Given the description of an element on the screen output the (x, y) to click on. 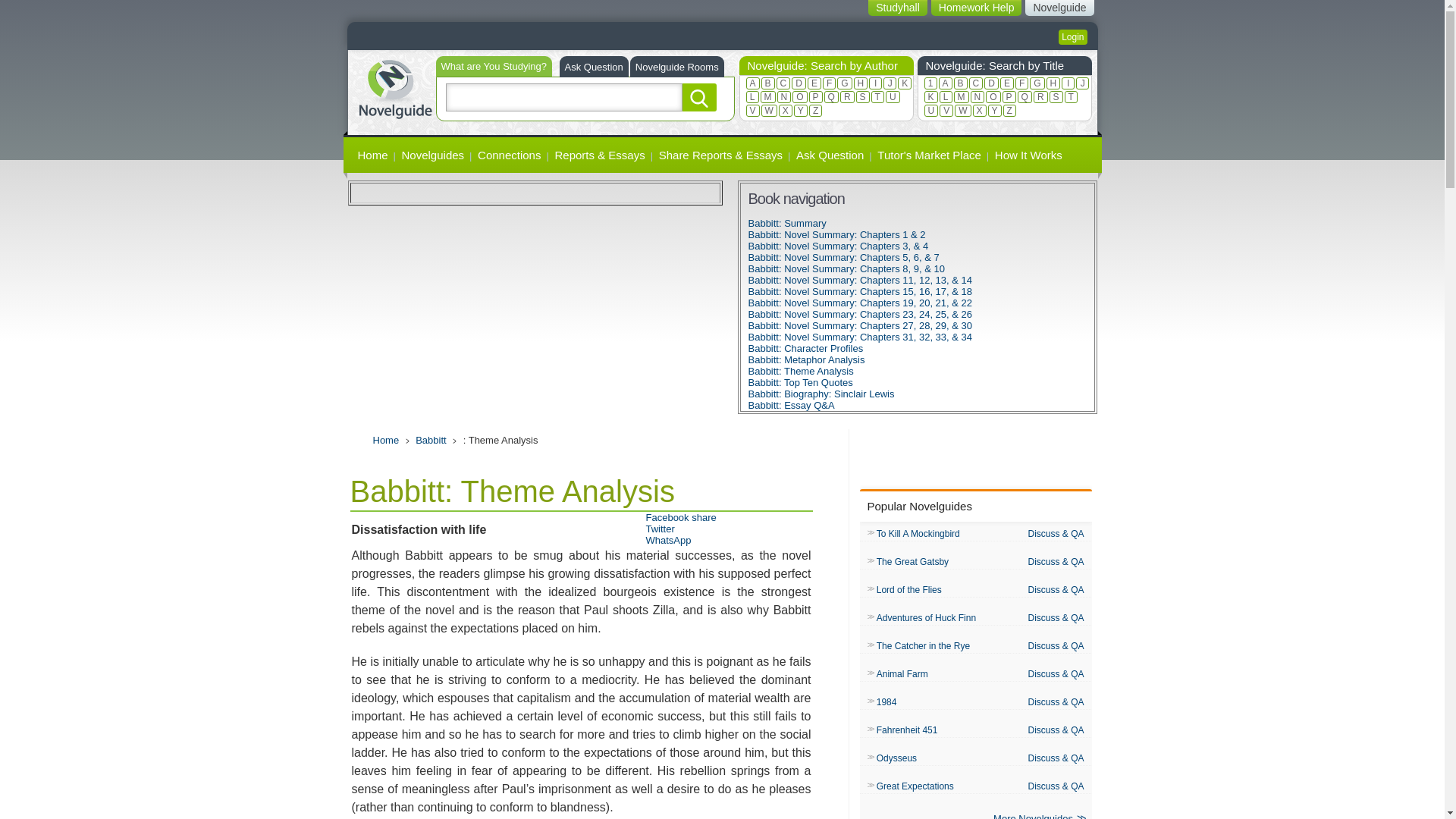
Novelguides (433, 154)
Studyhall (897, 7)
Home (394, 87)
Homework Help (976, 7)
How It Works (1028, 154)
Novelguide (1059, 7)
Login to get help or to help others (1072, 37)
Enter the terms you wish to search for. (563, 97)
Search (699, 97)
Novelguide Homework Rooms (676, 66)
Login (1072, 37)
